Given the description of an element on the screen output the (x, y) to click on. 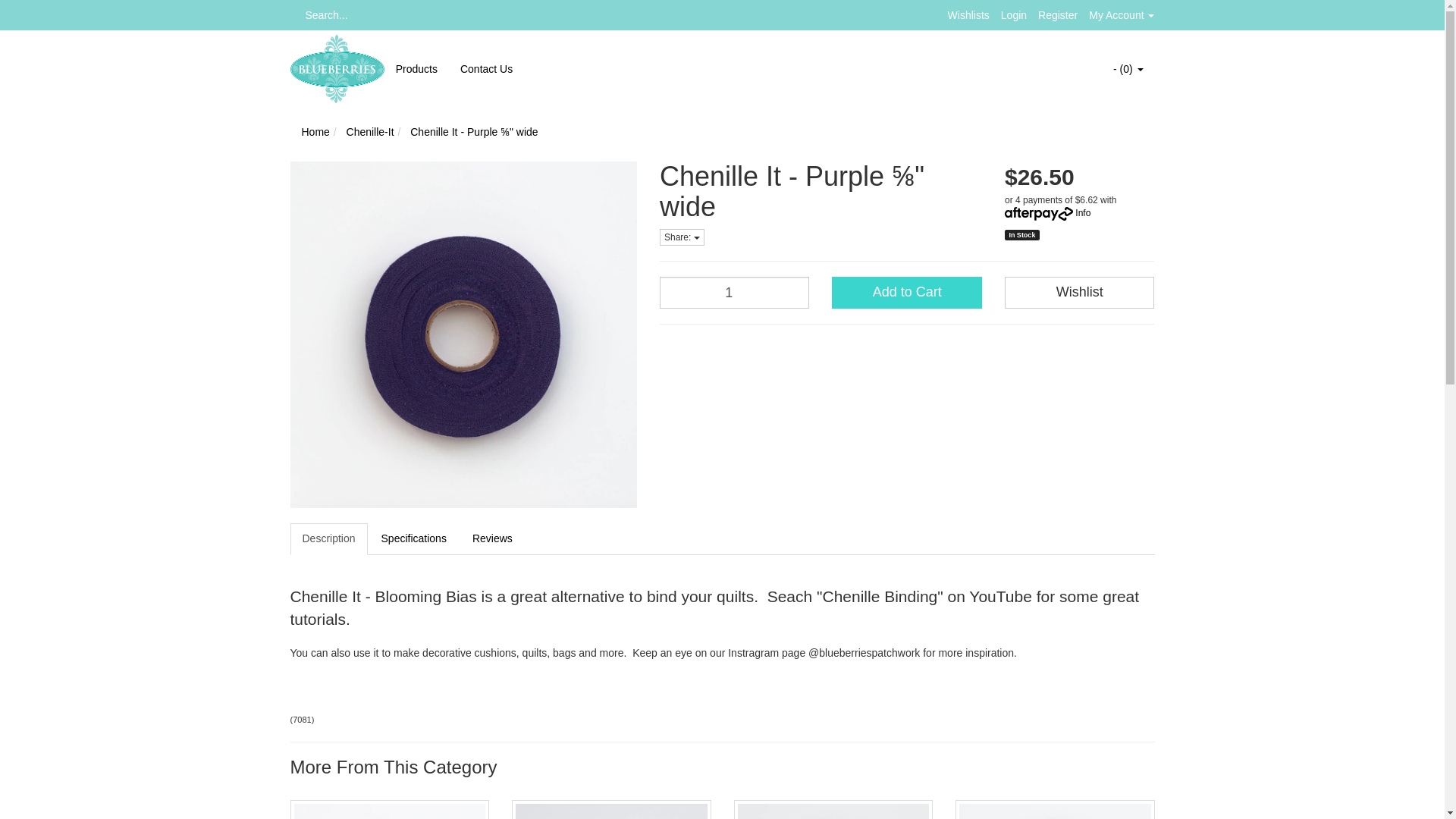
Reviews (492, 539)
1 (734, 292)
Home (315, 132)
Wishlists (968, 15)
Description (327, 539)
Share: (681, 237)
Register (1057, 15)
Contact Us (486, 69)
Chenille-It (370, 132)
Info (1082, 213)
Login (1013, 15)
Add to Cart (906, 292)
Add to Cart (906, 292)
Wishlist (1079, 292)
Specifications (413, 539)
